Given the description of an element on the screen output the (x, y) to click on. 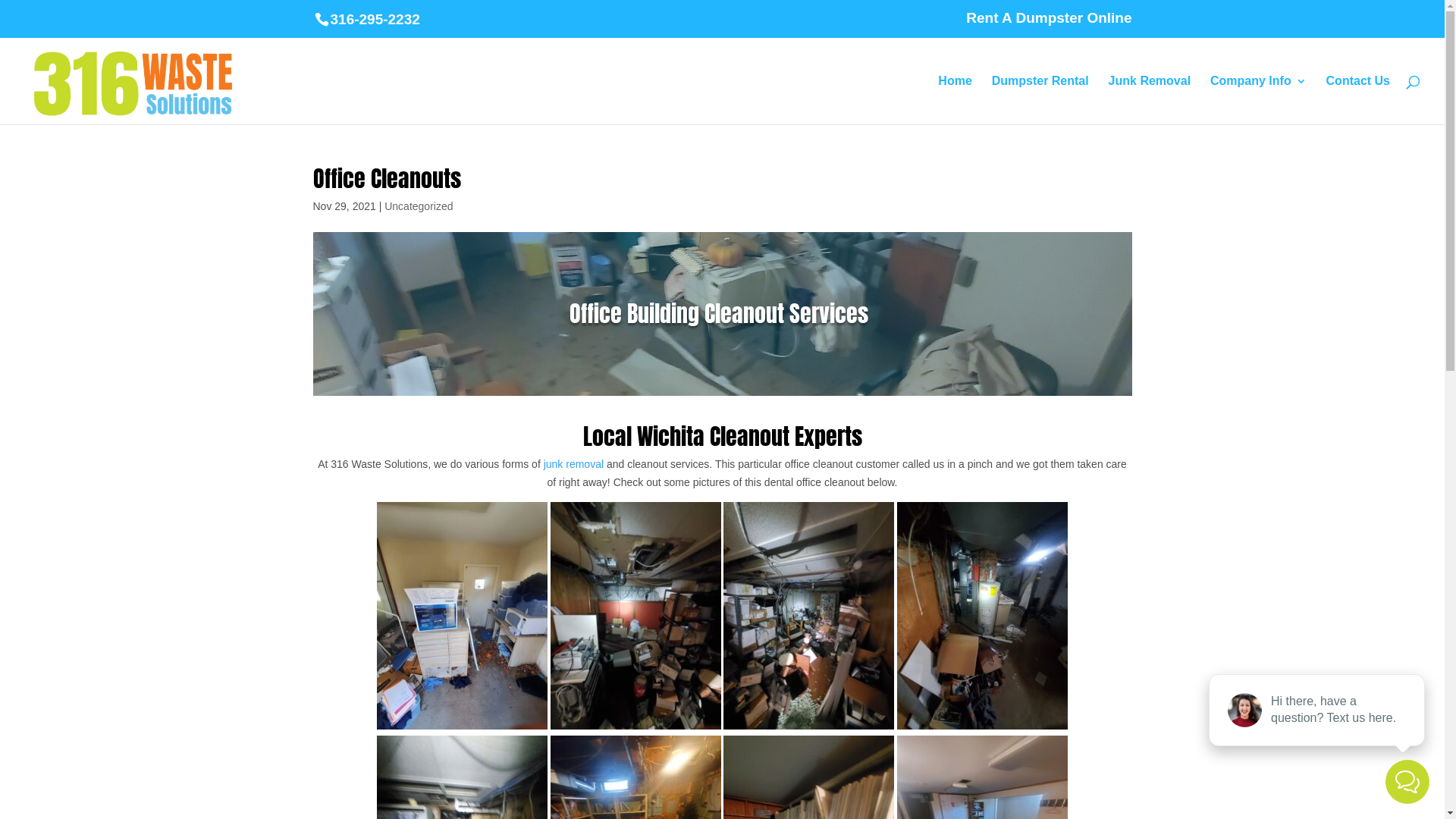
316-295-2232 Element type: text (366, 19)
Uncategorized Element type: text (418, 206)
Contact Us Element type: text (1358, 99)
junk removal Element type: text (571, 464)
Dumpster Rental Element type: text (1039, 99)
Company Info Element type: text (1258, 99)
Junk Removal Element type: text (1149, 99)
Rent A Dumpster Online Element type: text (1048, 22)
Home Element type: text (954, 99)
